Given the description of an element on the screen output the (x, y) to click on. 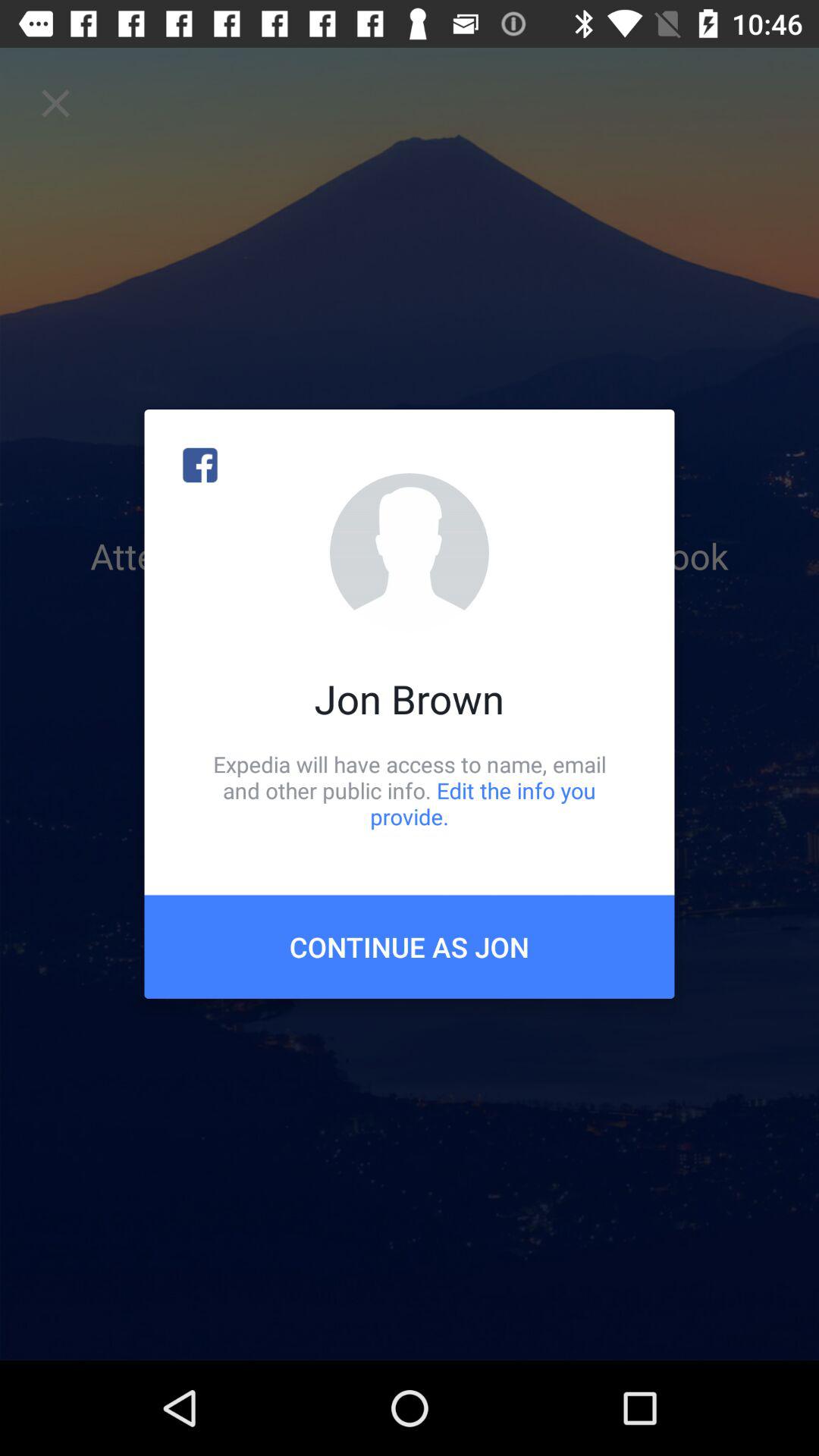
tap the item above continue as jon item (409, 790)
